Given the description of an element on the screen output the (x, y) to click on. 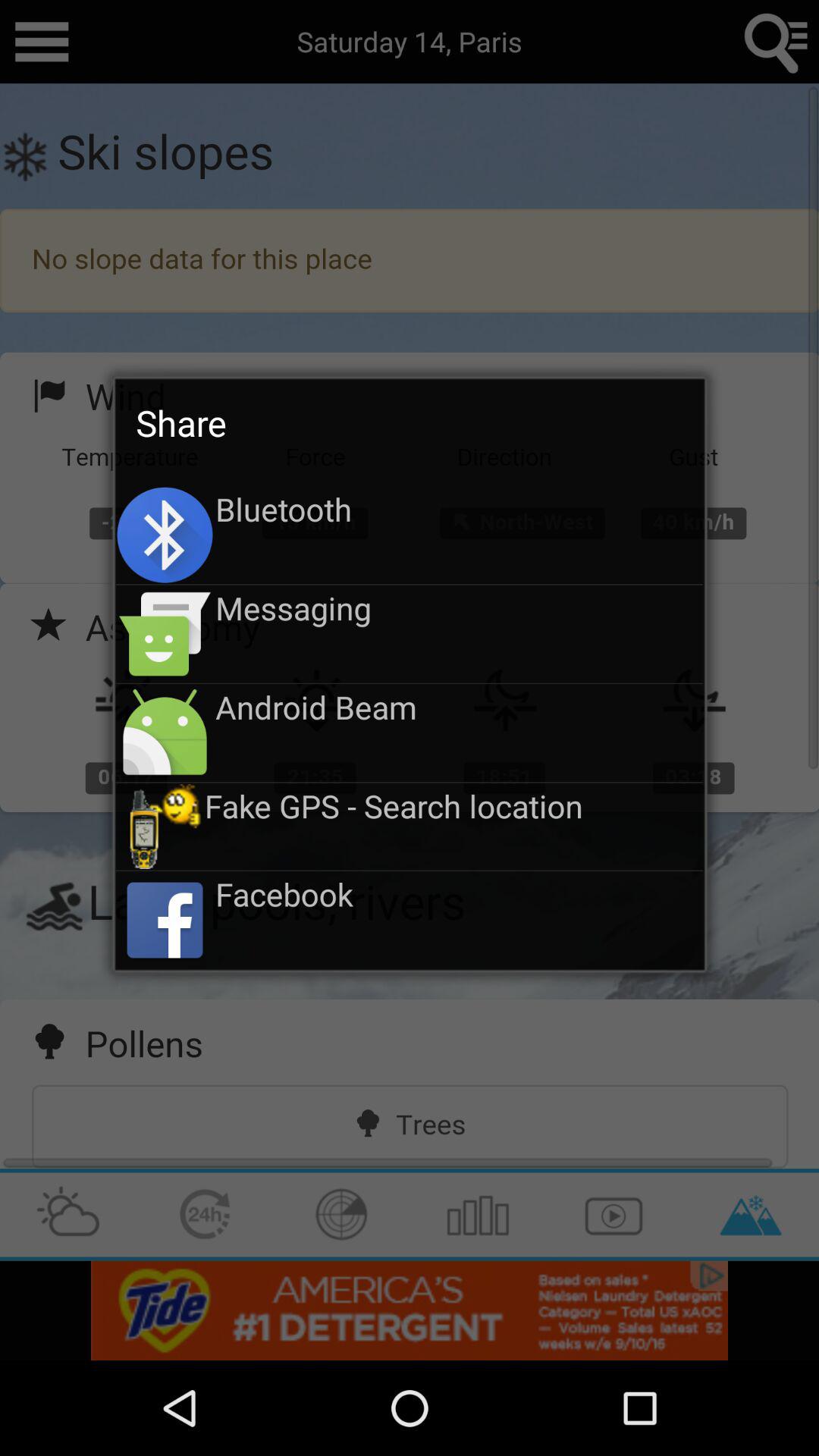
jump until fake gps search icon (453, 805)
